Given the description of an element on the screen output the (x, y) to click on. 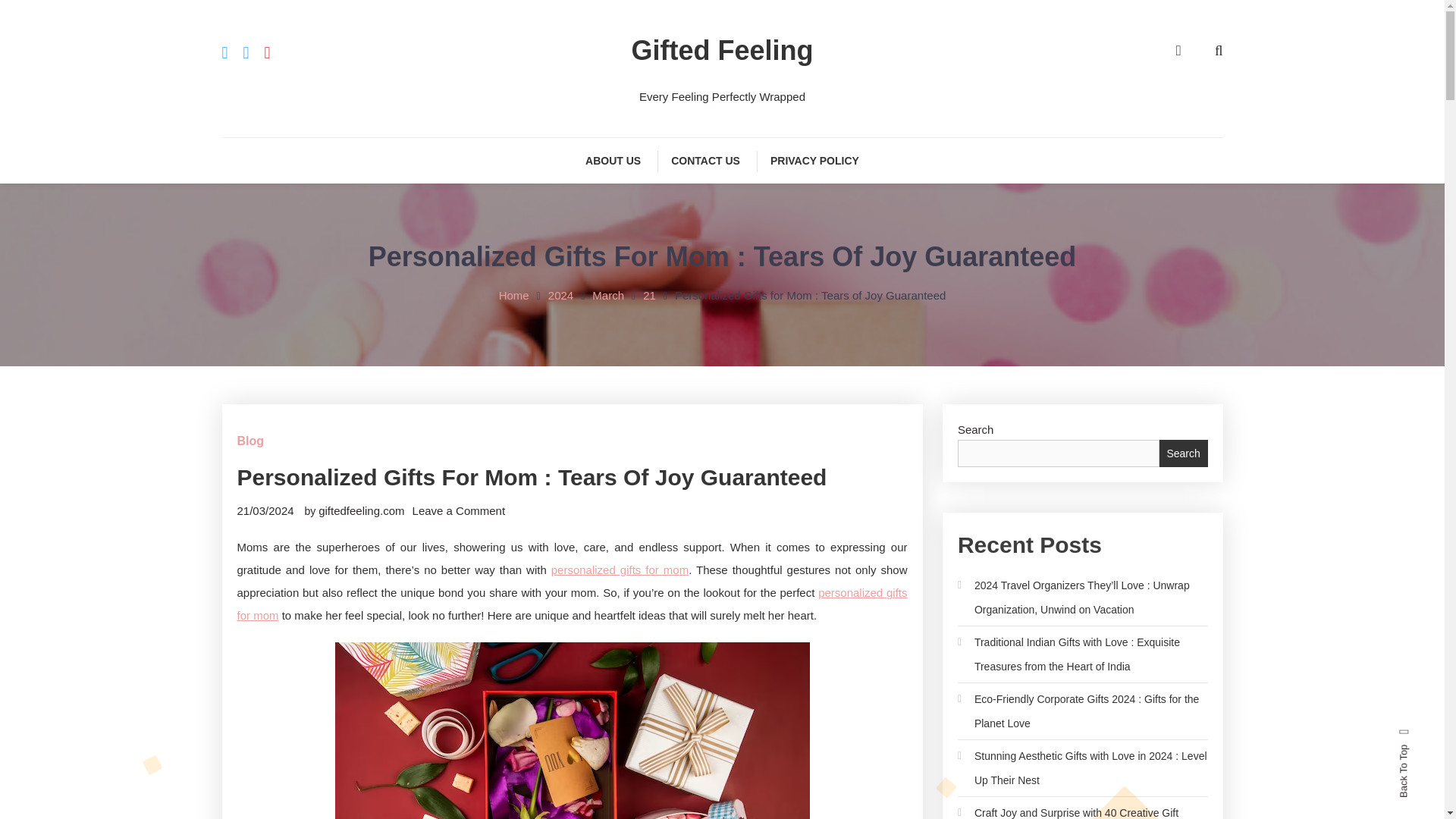
ABOUT US (613, 160)
personalized gifts for mom (571, 603)
March (608, 295)
Home (514, 295)
Gifted Feeling (721, 50)
giftedfeeling.com (361, 510)
CONTACT US (705, 160)
Search (768, 432)
